Given the description of an element on the screen output the (x, y) to click on. 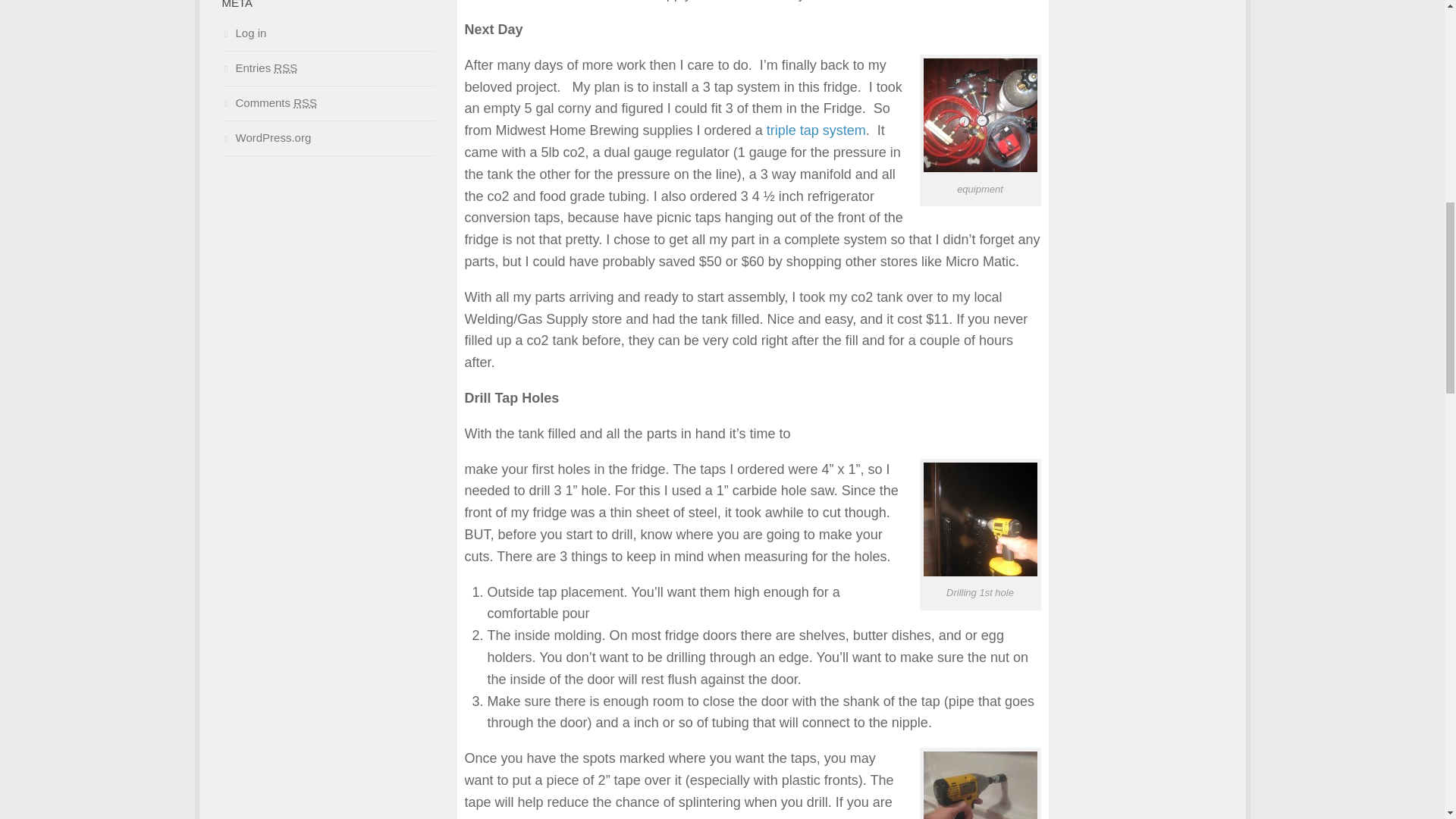
pic-010 (979, 785)
Really Simple Syndication (305, 102)
Really Simple Syndication (285, 67)
triple tap system (816, 130)
pic-007 (979, 519)
pic-016 (979, 114)
